Given the description of an element on the screen output the (x, y) to click on. 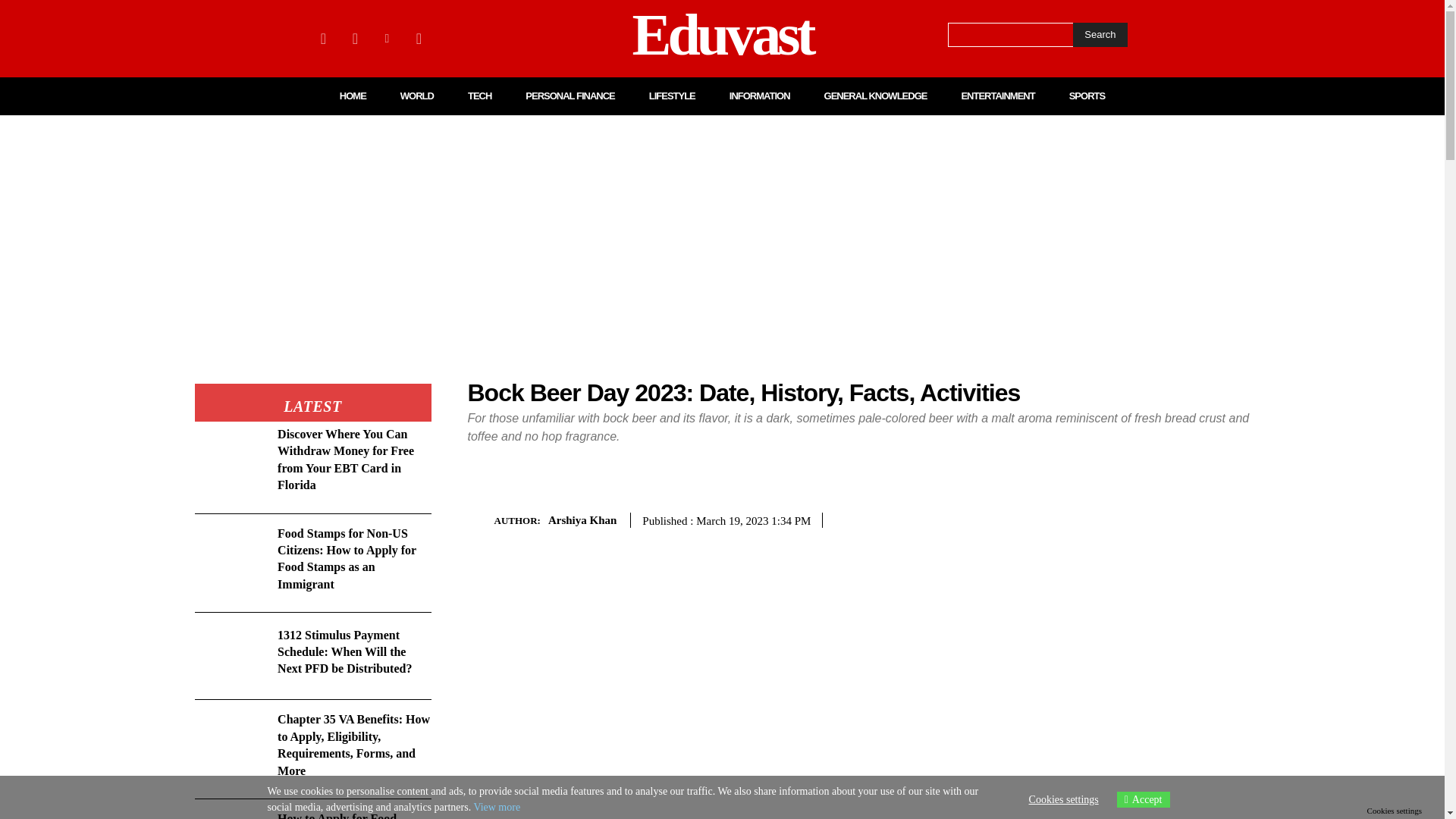
ENTERTAINMENT (996, 95)
Eduvast (722, 38)
INFORMATION (759, 95)
Instagram (354, 38)
Linkedin (386, 38)
PERSONAL FINANCE (569, 95)
